Given the description of an element on the screen output the (x, y) to click on. 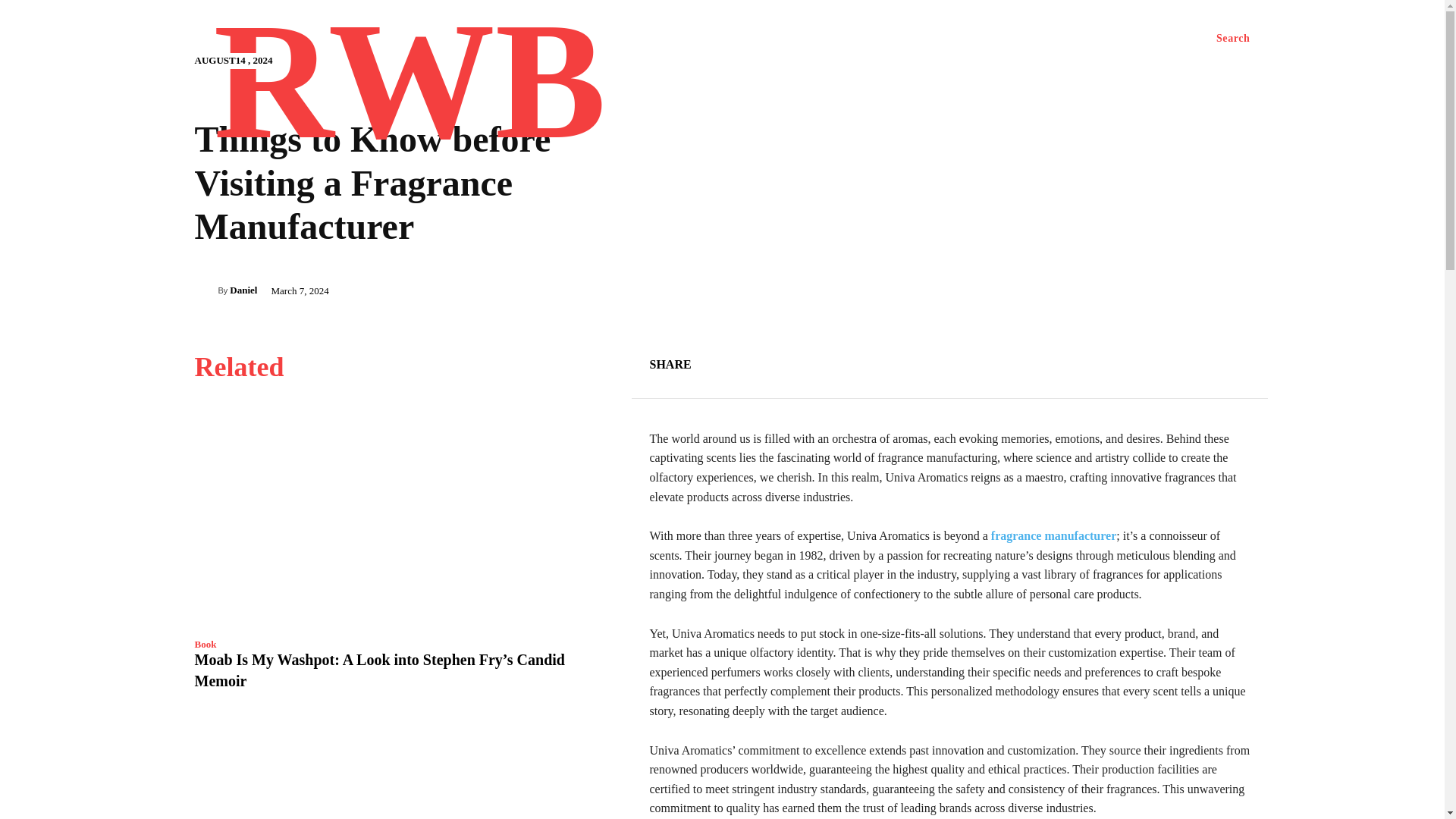
RWB (410, 90)
Daniel (204, 289)
Book (204, 644)
Daniel (243, 289)
Search (1232, 38)
